Given the description of an element on the screen output the (x, y) to click on. 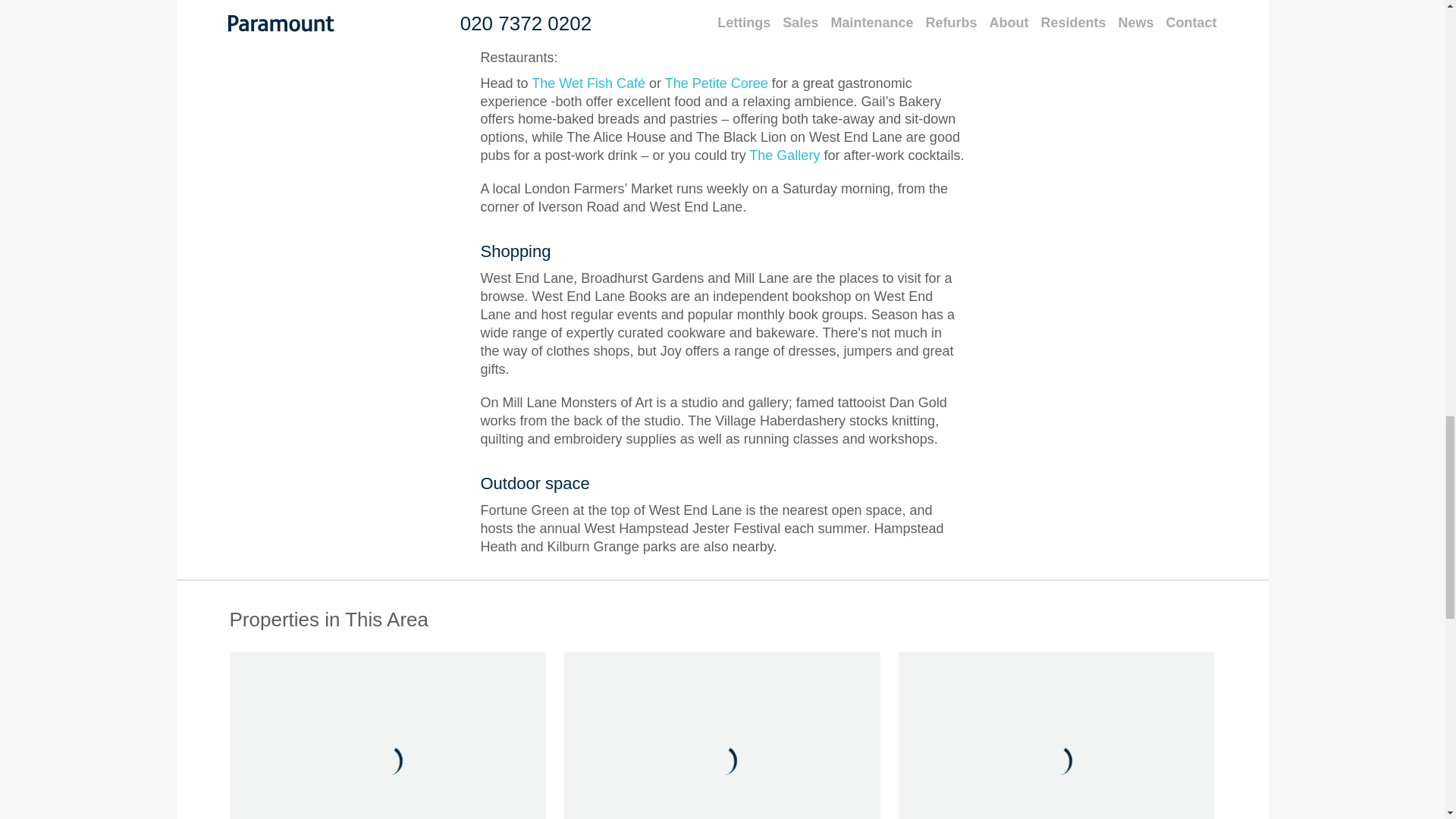
The Railway pub (549, 3)
The Gallery (784, 155)
The Petite Coree (716, 83)
The Wet Fish Cafe (588, 83)
